Given the description of an element on the screen output the (x, y) to click on. 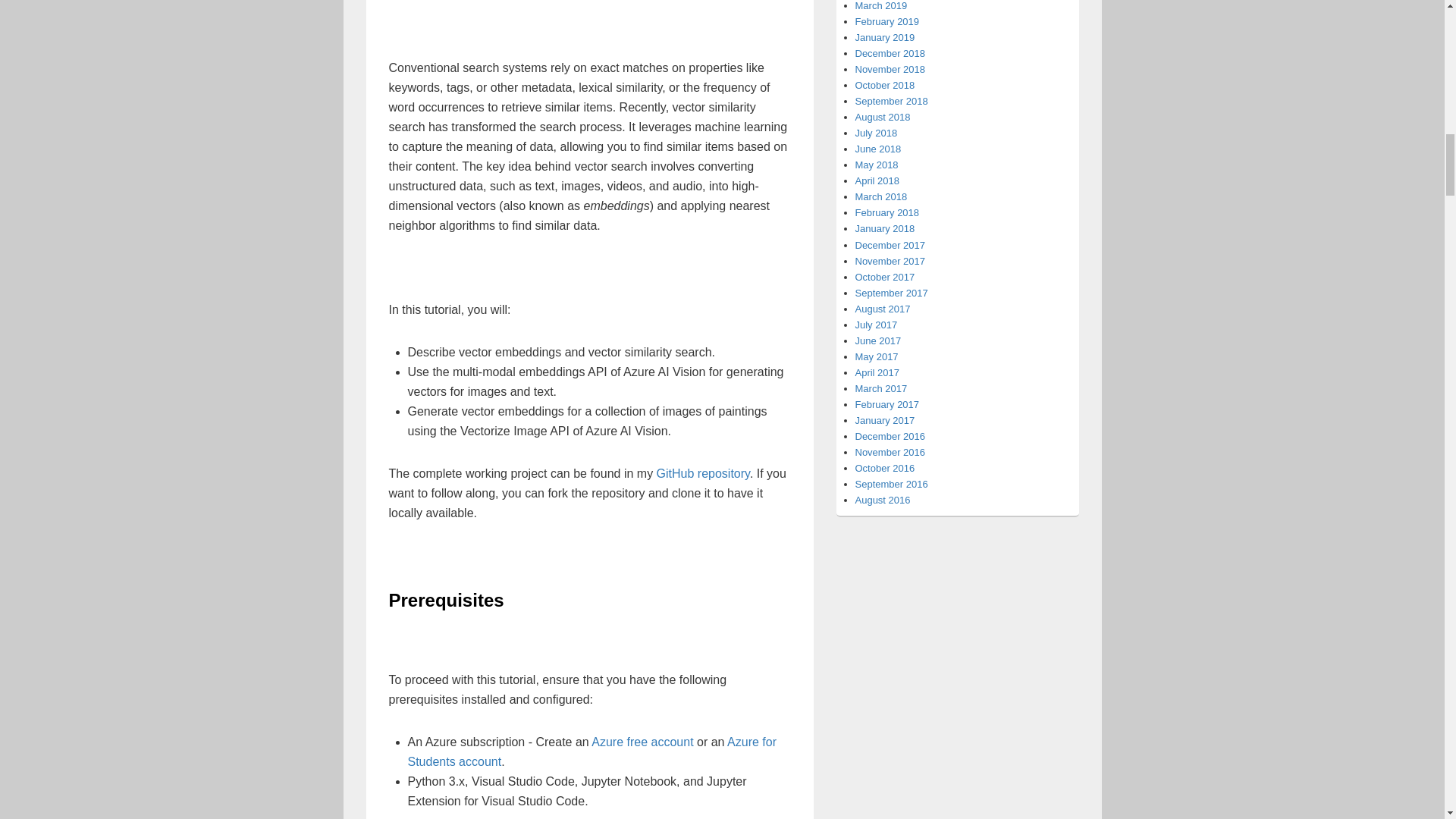
Azure free account (642, 741)
Azure for Students account (592, 751)
GitHub repository (702, 472)
